Given the description of an element on the screen output the (x, y) to click on. 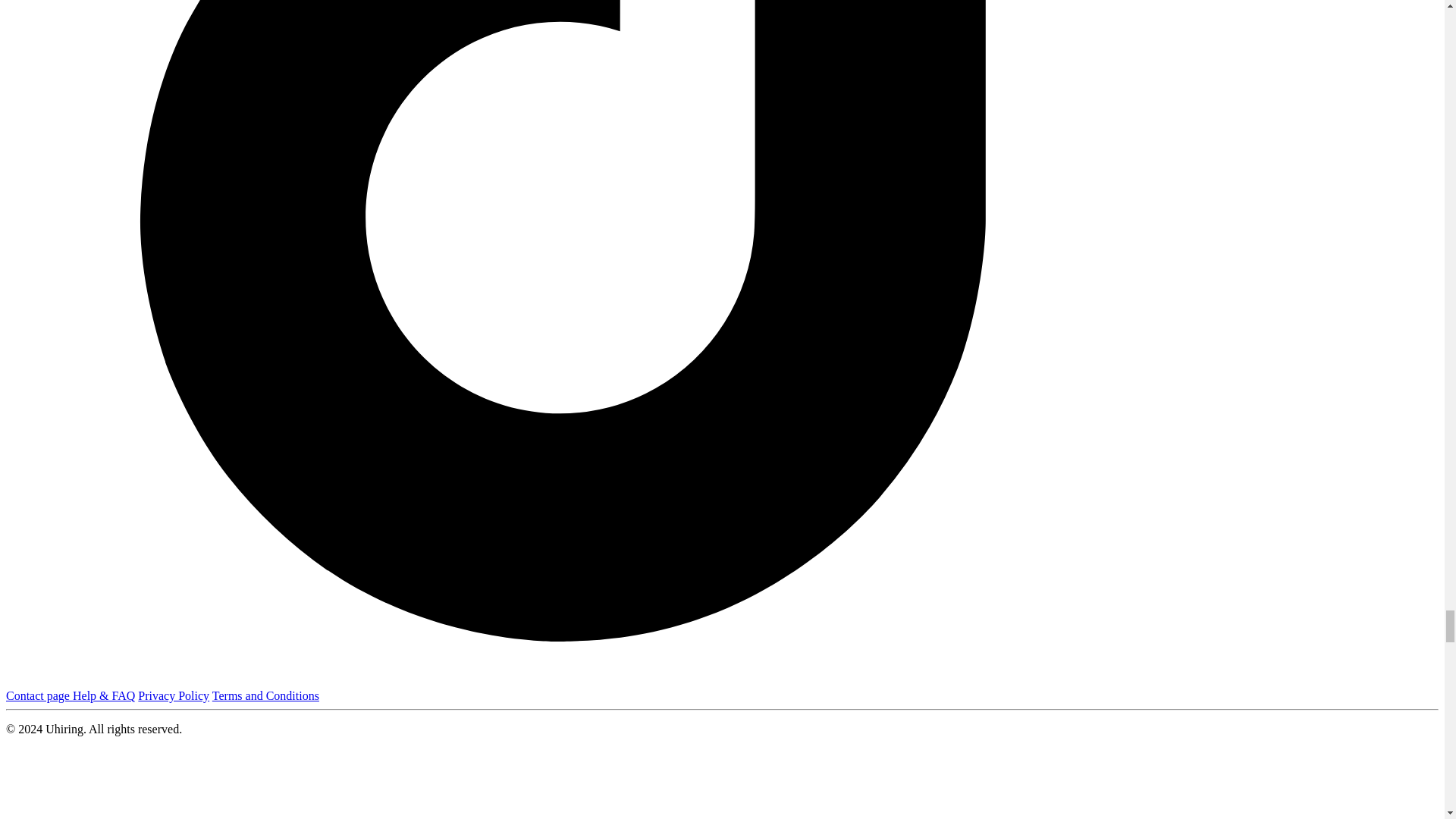
Contact page (38, 695)
Privacy Policy (173, 695)
Terms and Conditions (265, 695)
